Given the description of an element on the screen output the (x, y) to click on. 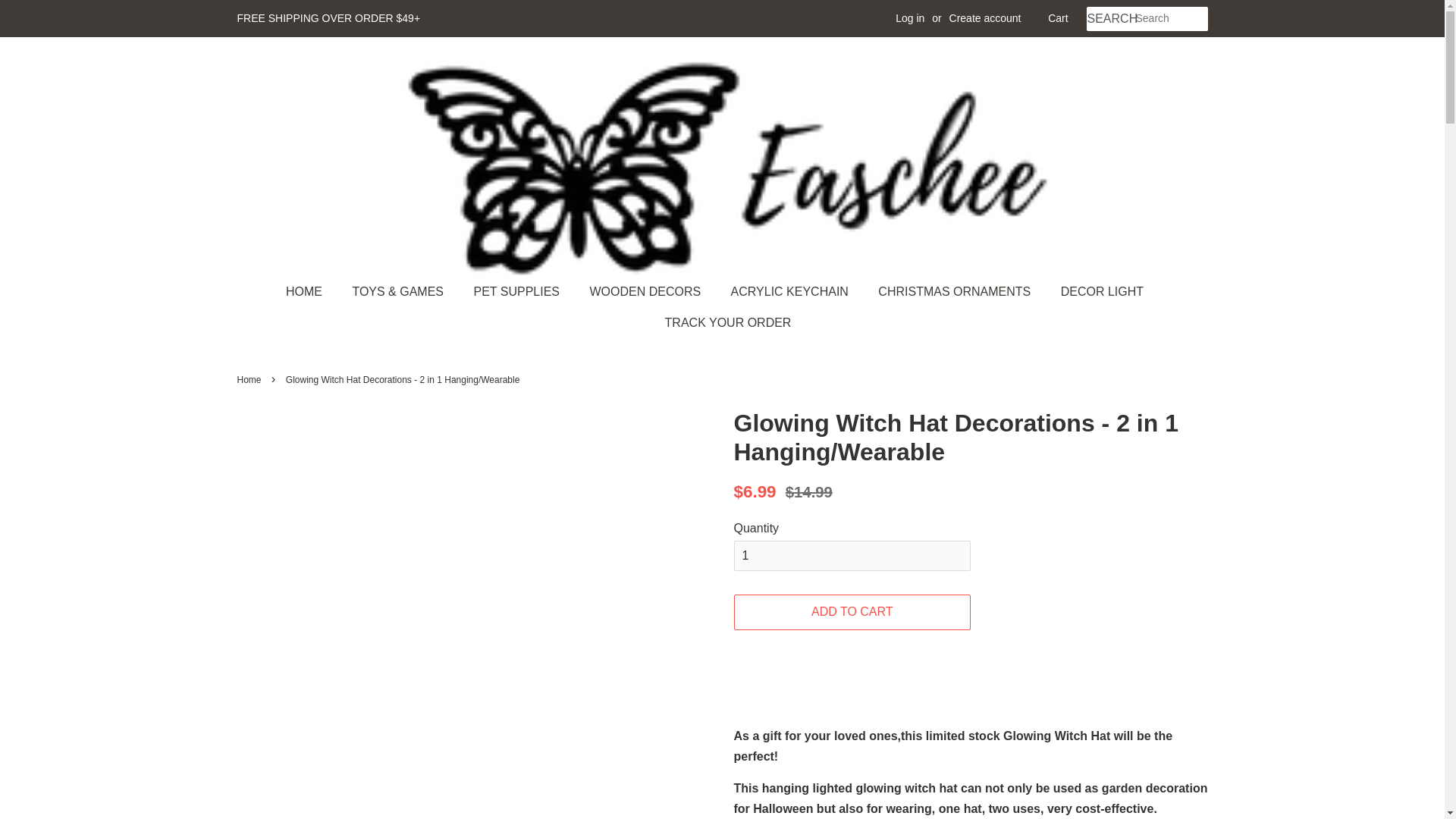
Back to the frontpage (249, 379)
Create account (985, 18)
SEARCH (1110, 18)
Log in (909, 18)
Cart (1057, 18)
1 (852, 555)
